Given the description of an element on the screen output the (x, y) to click on. 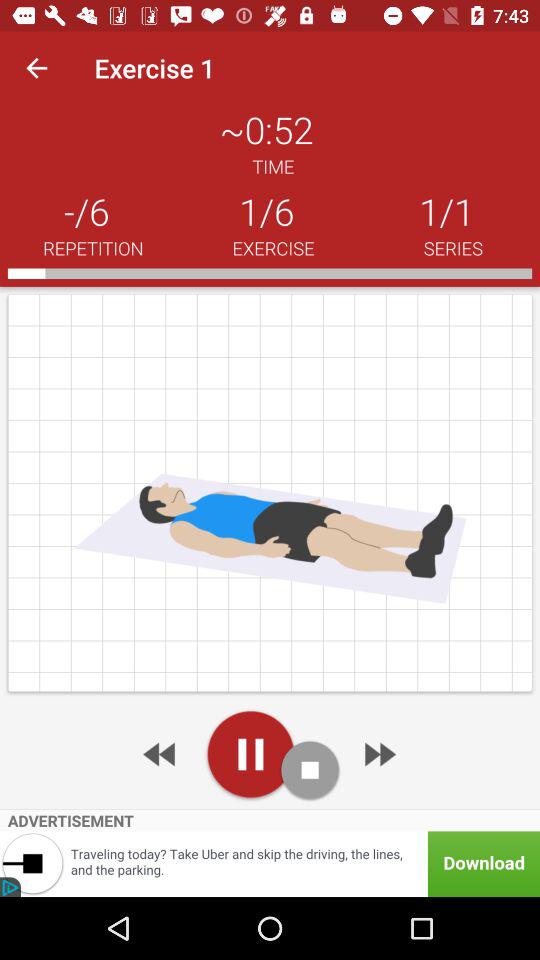
stop the playback (309, 769)
